Given the description of an element on the screen output the (x, y) to click on. 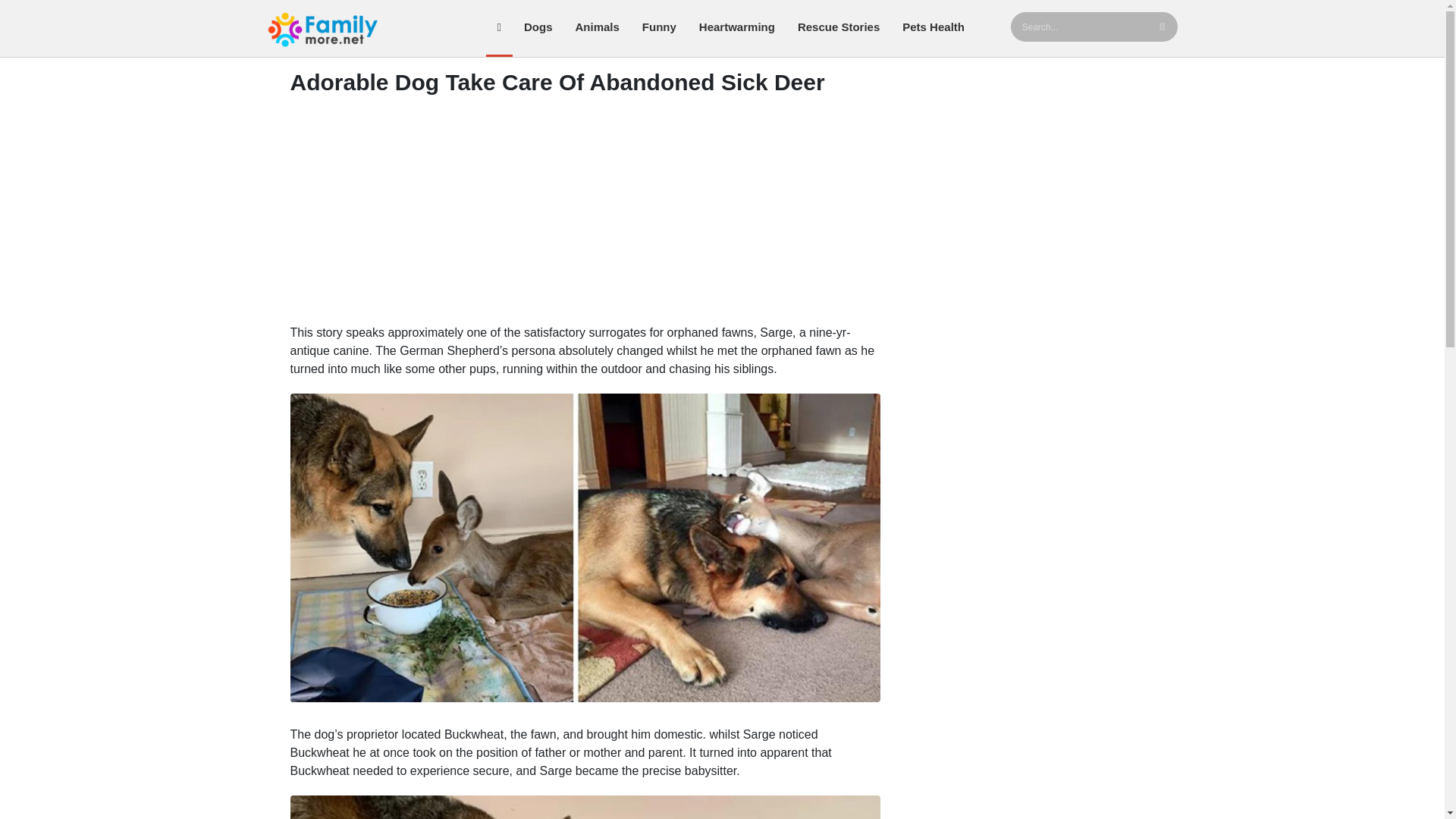
Pets Health (933, 28)
Rescue Stories (838, 28)
Animals (596, 28)
Heartwarming (736, 28)
Funny (658, 28)
Dogs (538, 28)
Advertisement (585, 213)
